Given the description of an element on the screen output the (x, y) to click on. 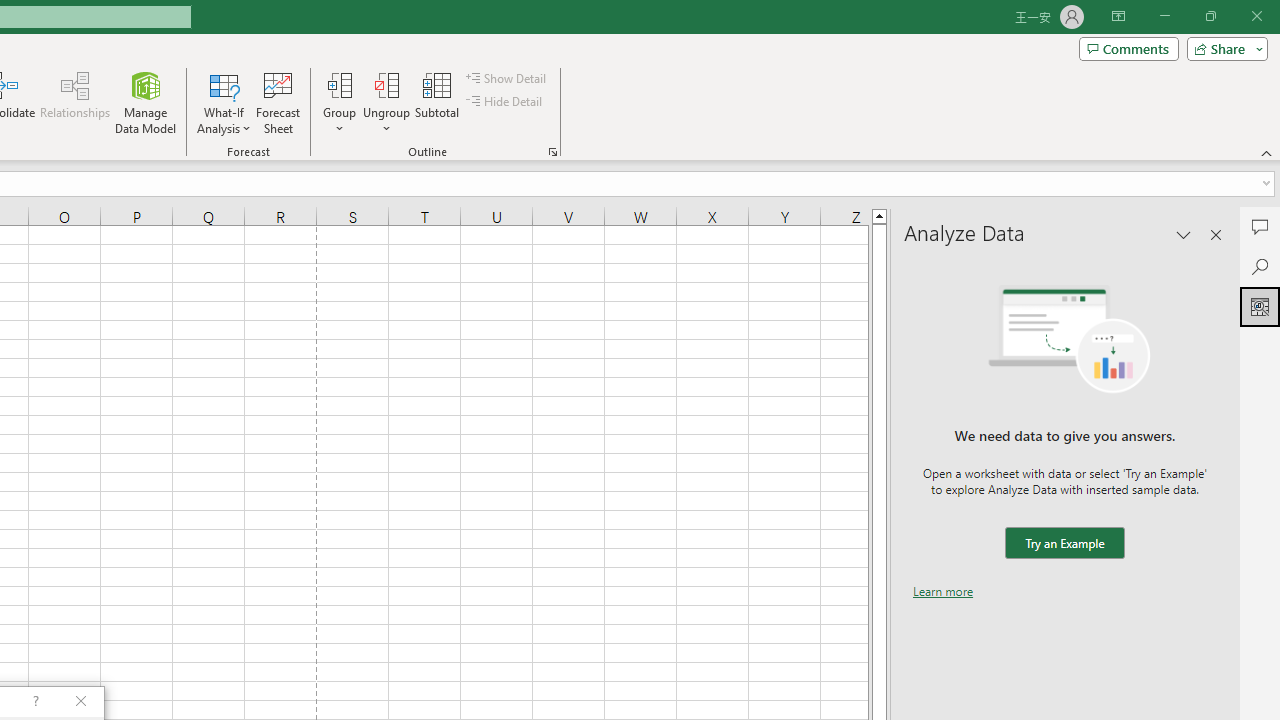
Hide Detail (505, 101)
Learn more (943, 591)
Minimize (1164, 16)
Search (1260, 266)
Forecast Sheet (278, 102)
Subtotal (437, 102)
Restore Down (1210, 16)
Comments (1260, 226)
Manage Data Model (145, 102)
We need data to give you answers. Try an Example (1064, 543)
Close (1256, 16)
Comments (1128, 48)
Group... (339, 102)
Ribbon Display Options (1118, 16)
